Given the description of an element on the screen output the (x, y) to click on. 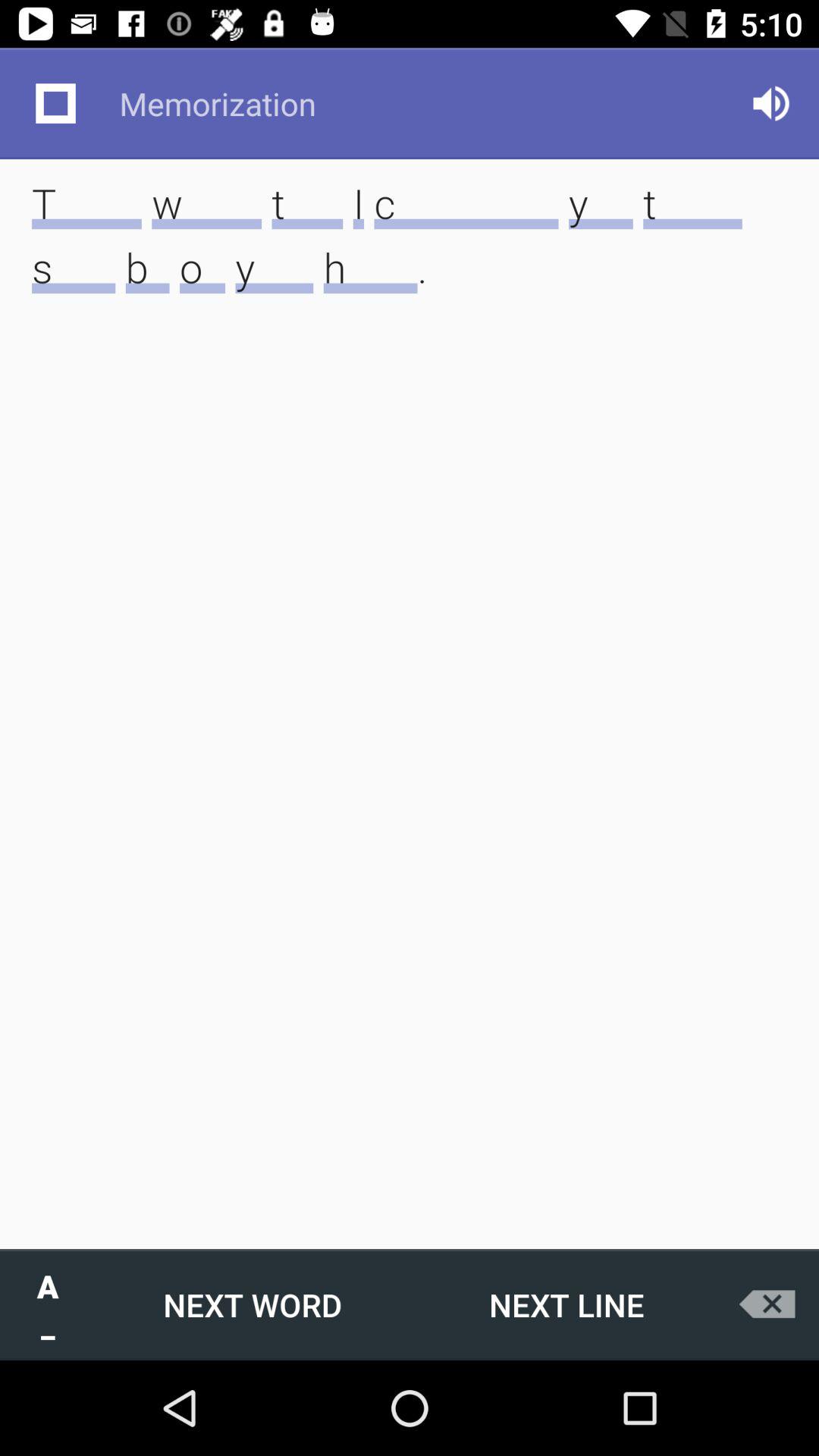
select next line item (566, 1304)
